Given the description of an element on the screen output the (x, y) to click on. 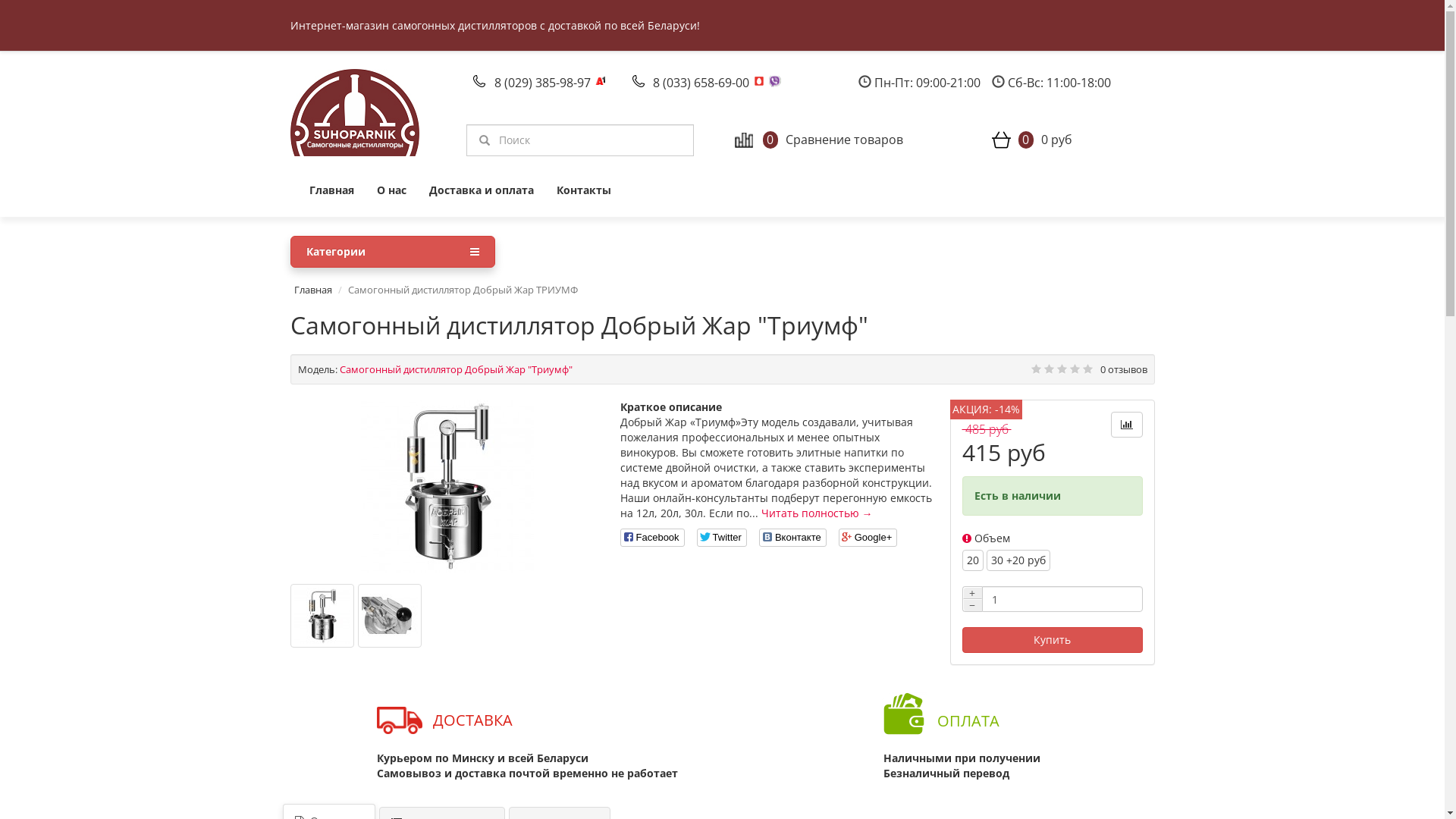
+ Element type: text (972, 592)
8 (033) 658-69-00 Element type: text (702, 82)
8 (029) 385-98-97 Element type: text (543, 82)
